Given the description of an element on the screen output the (x, y) to click on. 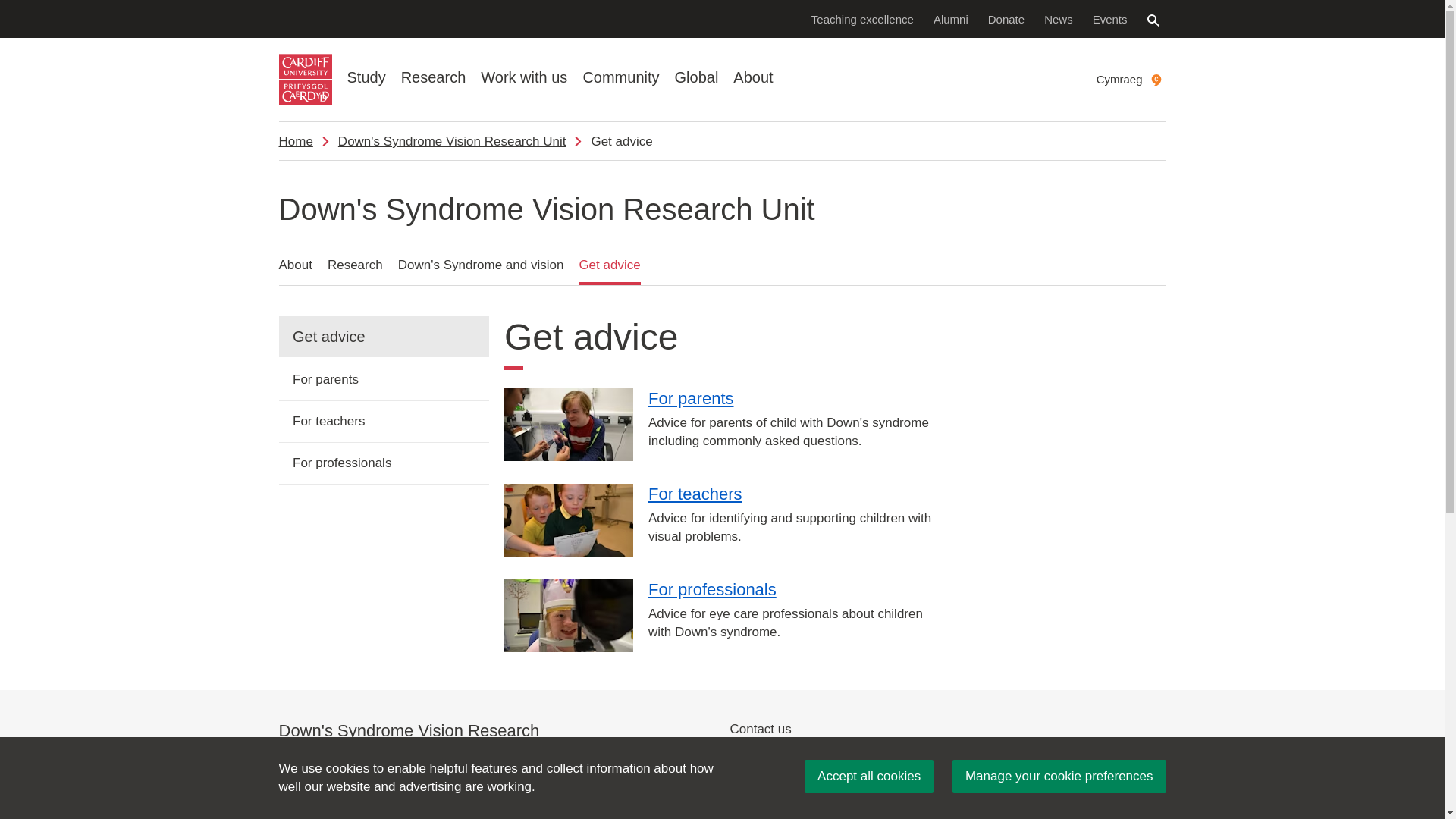
cymraeg (1155, 80)
Cardiff University logo (305, 79)
Events (1109, 19)
Cardiff University logo (305, 79)
Alumni (951, 19)
Accept all cookies (869, 776)
Teaching excellence (862, 19)
News (1058, 19)
Donate (1005, 19)
Search (1152, 20)
